Given the description of an element on the screen output the (x, y) to click on. 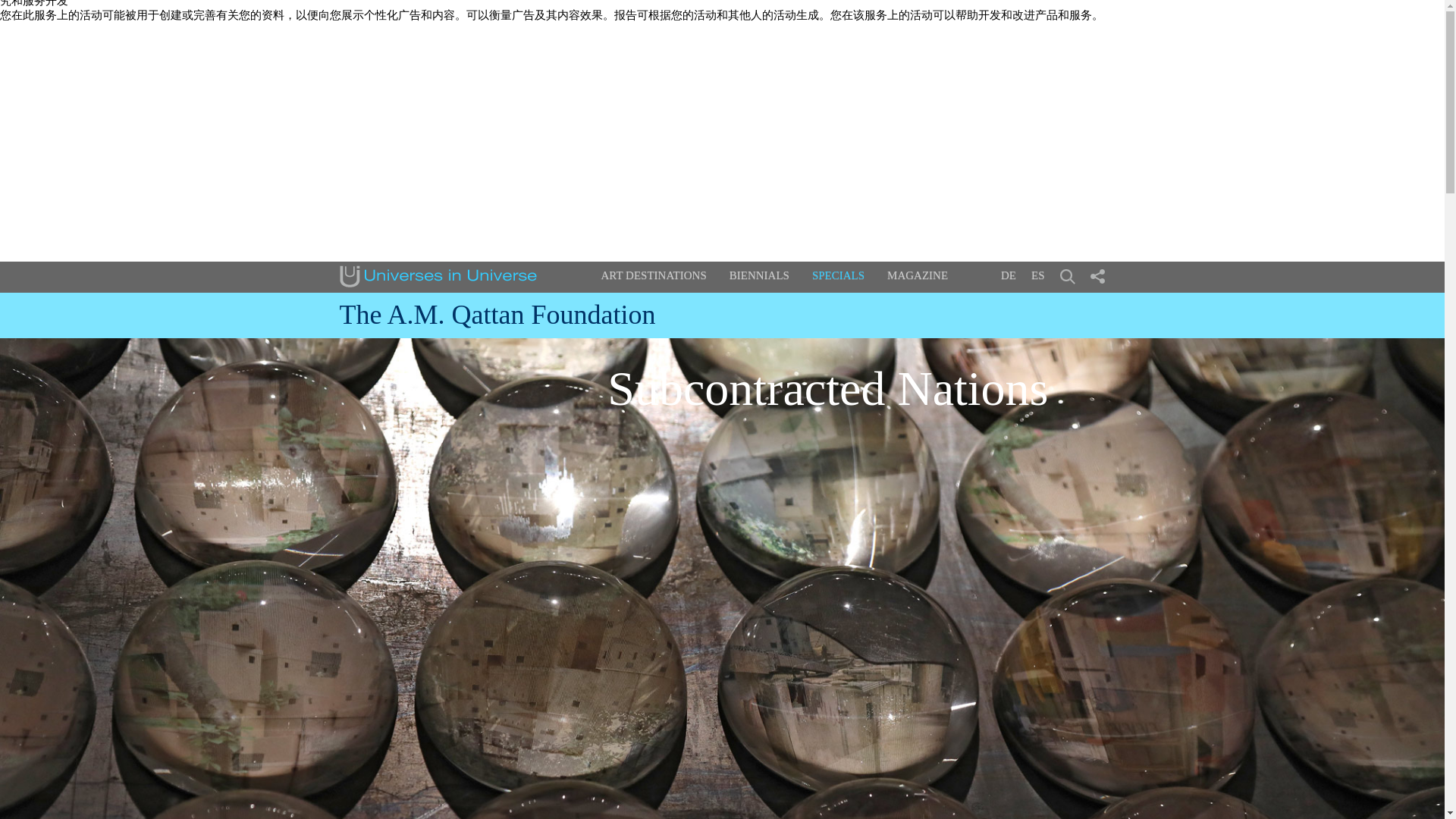
The A.M. Qattan Foundation (497, 314)
SPECIALS (838, 274)
Specials (838, 274)
Biennials (759, 275)
DE (1008, 273)
Art Destinations (652, 275)
Magazine. Universes in Universe (916, 275)
ES (1037, 273)
MAGAZINE (916, 275)
BIENNIALS (759, 275)
ART DESTINATIONS (652, 275)
